Given the description of an element on the screen output the (x, y) to click on. 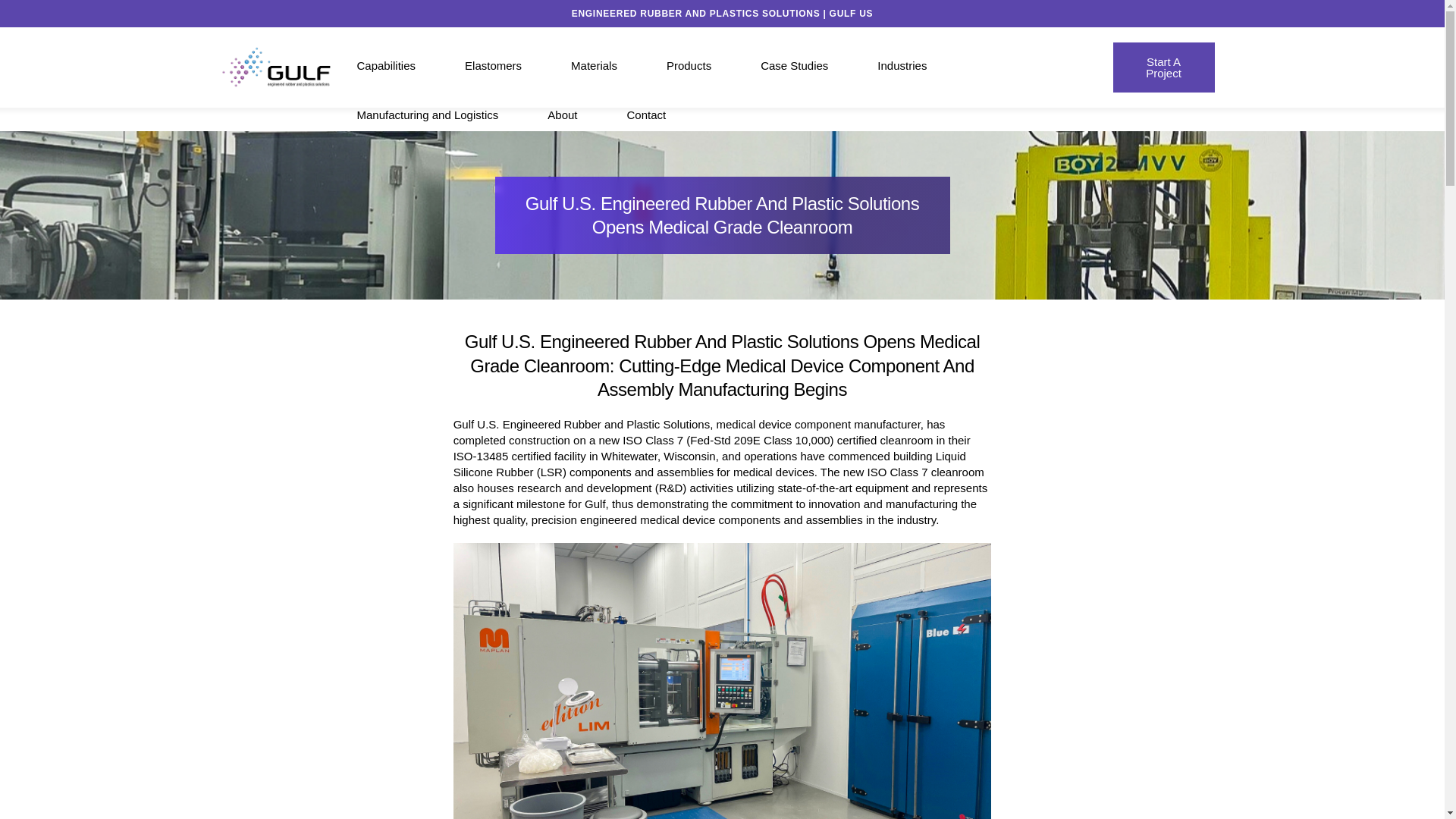
Start A Project (1163, 67)
Products (713, 66)
Capabilities (410, 66)
Elastomers (517, 66)
About (586, 114)
Case Studies (818, 66)
Manufacturing and Logistics (451, 114)
Contact (670, 114)
Industries (926, 66)
Materials (618, 66)
